Given the description of an element on the screen output the (x, y) to click on. 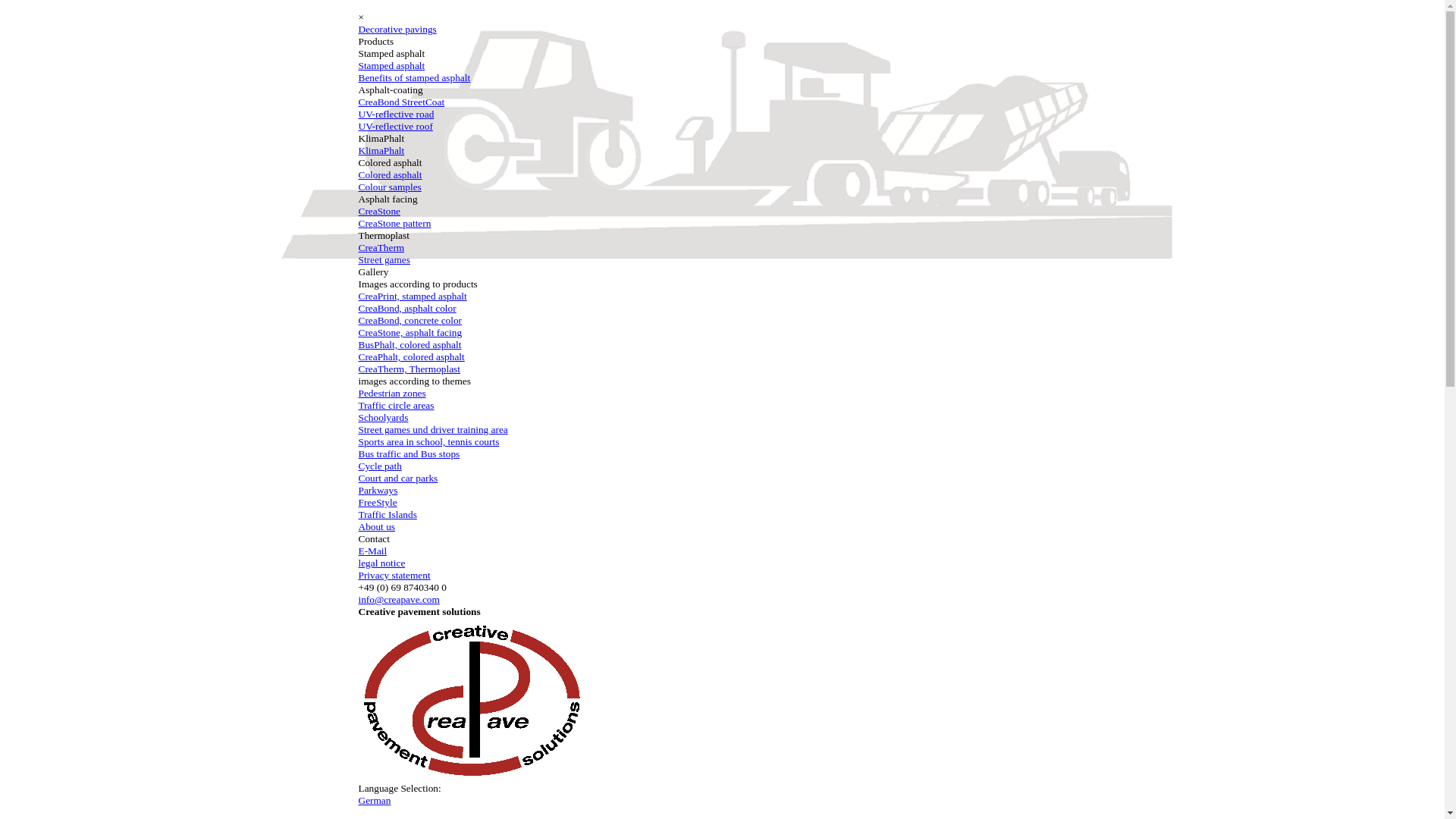
CreaBond StreetCoat (401, 101)
CreaBond, asphalt color (406, 307)
BusPhalt, colored asphalt (409, 344)
CreaPhalt, colored asphalt (411, 356)
Street games (383, 259)
Schoolyards (382, 417)
CreaPrint, stamped asphalt (411, 296)
CreaTherm, Thermoplast (409, 368)
CreaBond, concrete color (409, 319)
Benefits of stamped asphalt (414, 77)
